Given the description of an element on the screen output the (x, y) to click on. 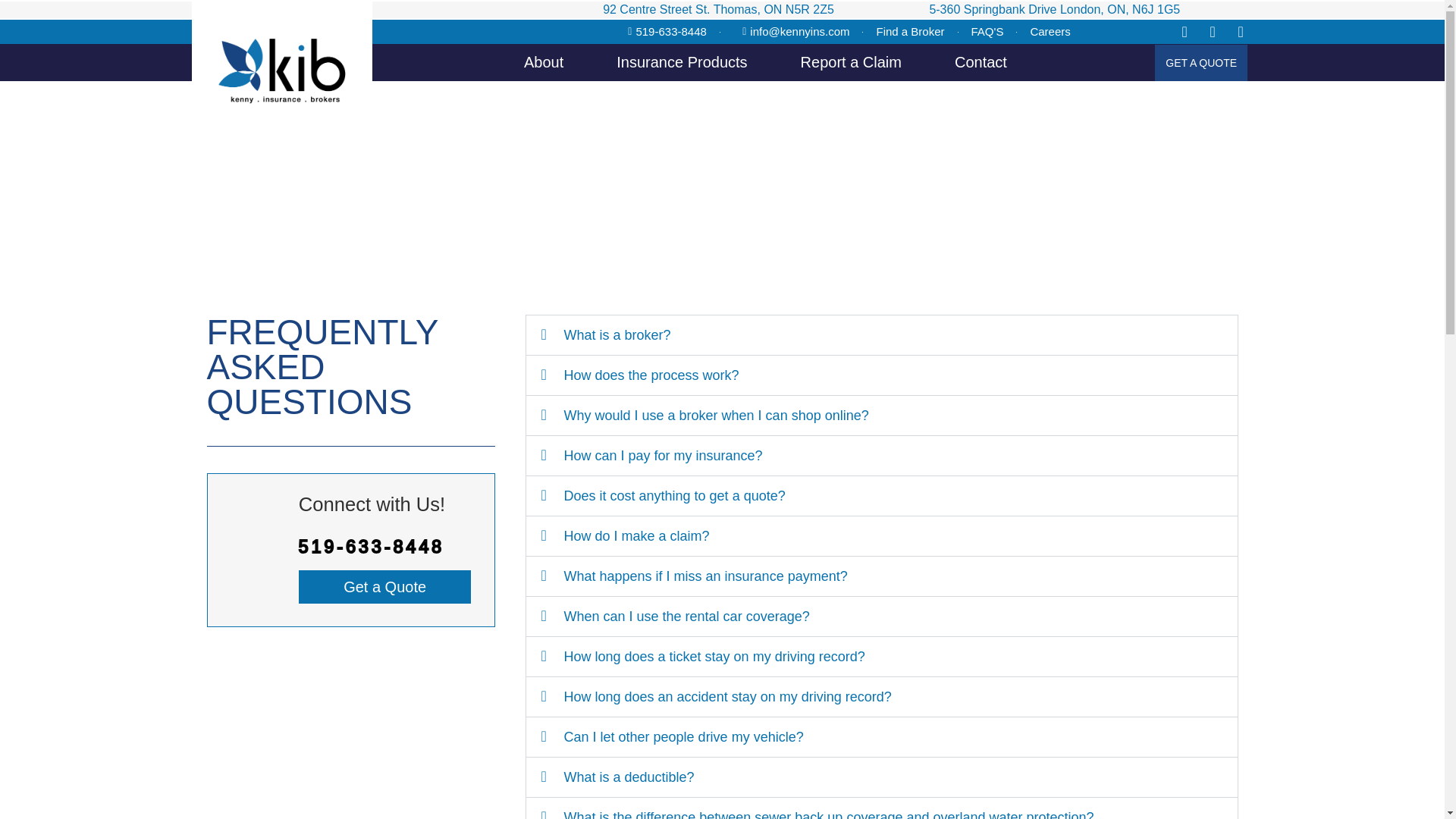
FAQ'S (987, 31)
519-633-8448 (662, 31)
Report a Claim (851, 62)
5-360 Springbank Drive London, ON, N6J 1G5 (1053, 9)
About (543, 62)
Find a Broker (909, 31)
Insurance Products (681, 62)
92 Centre Street St. Thomas, ON N5R 2Z5 (718, 9)
Careers (1049, 31)
Contact (980, 62)
